Given the description of an element on the screen output the (x, y) to click on. 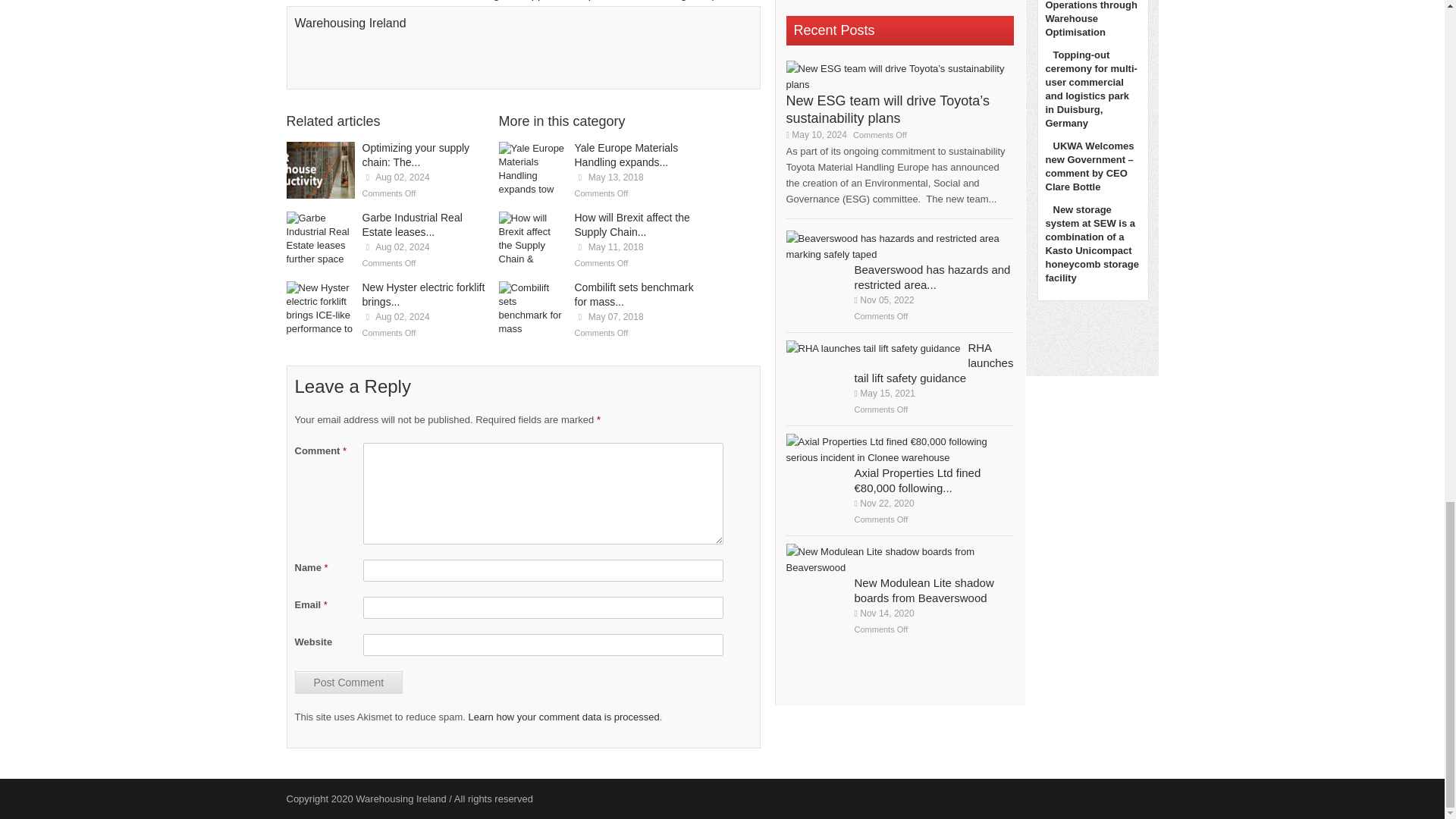
Yale Europe Materials Handling expands tow tractor range (533, 170)
Warehousing Ireland (350, 22)
Optimizing your supply chain: The... (416, 154)
Posts by Warehousing Ireland (350, 22)
Post Comment (348, 681)
